Given the description of an element on the screen output the (x, y) to click on. 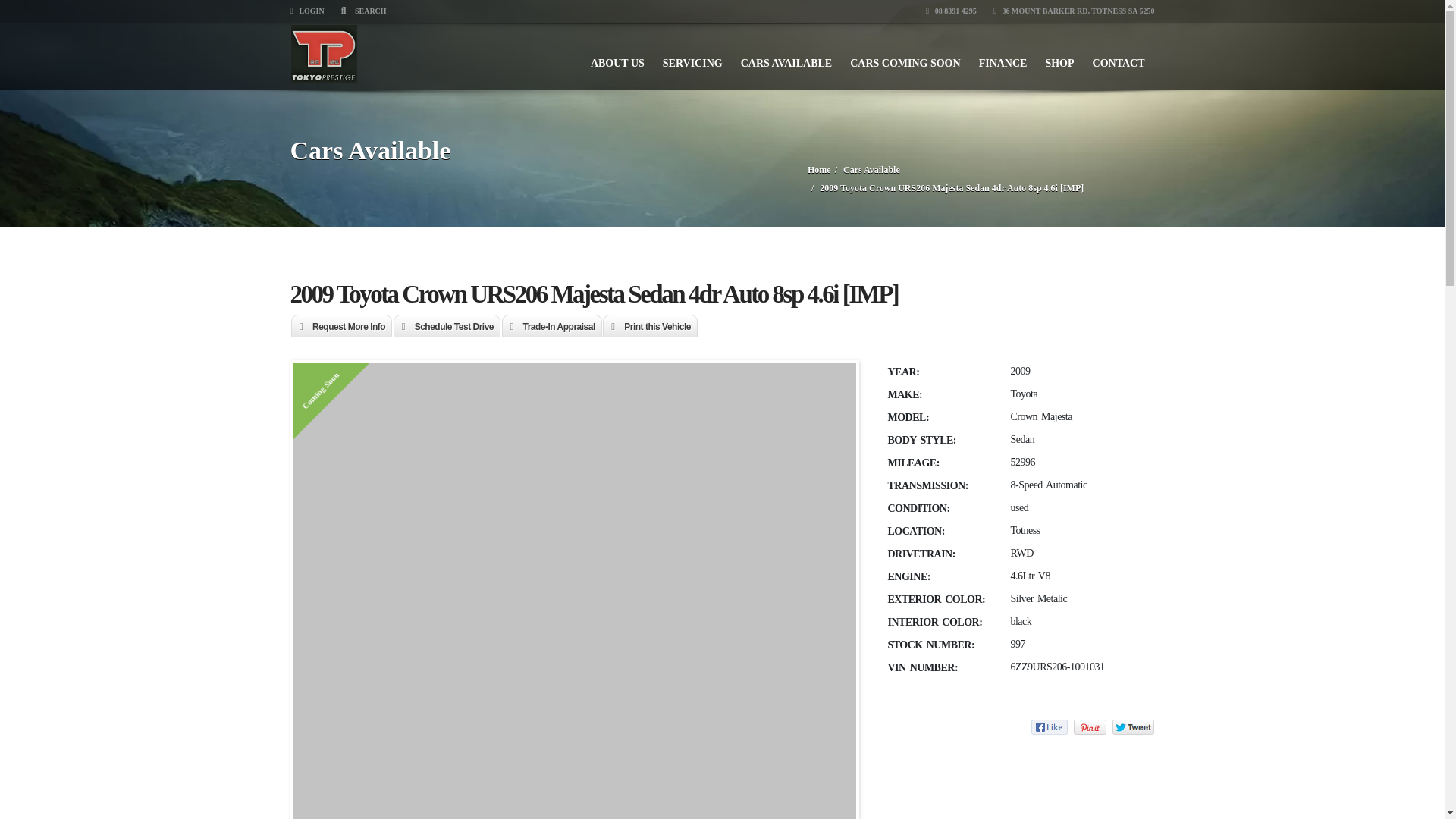
ABOUT US (616, 56)
Schedule Test Drive (446, 326)
Cars Available (871, 169)
Share link on Twitter (1133, 726)
36 MOUNT BARKER RD, TOTNESS SA 5250 (1073, 10)
SERVICING (692, 56)
Request More Info (341, 326)
Share link on Pinterest (1090, 726)
CONTACT (1118, 56)
CARS AVAILABLE (786, 56)
